Given the description of an element on the screen output the (x, y) to click on. 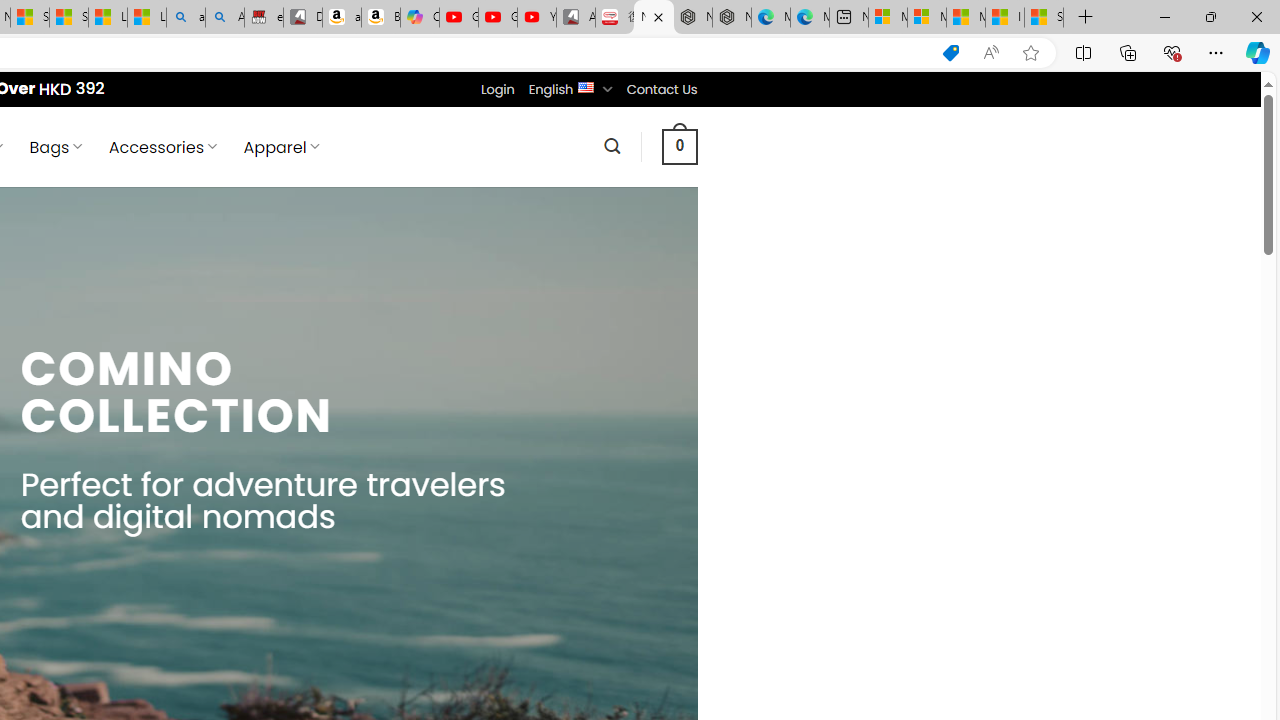
Contact Us (661, 89)
Copilot (419, 17)
Nordace - Comino Collection (653, 17)
